Given the description of an element on the screen output the (x, y) to click on. 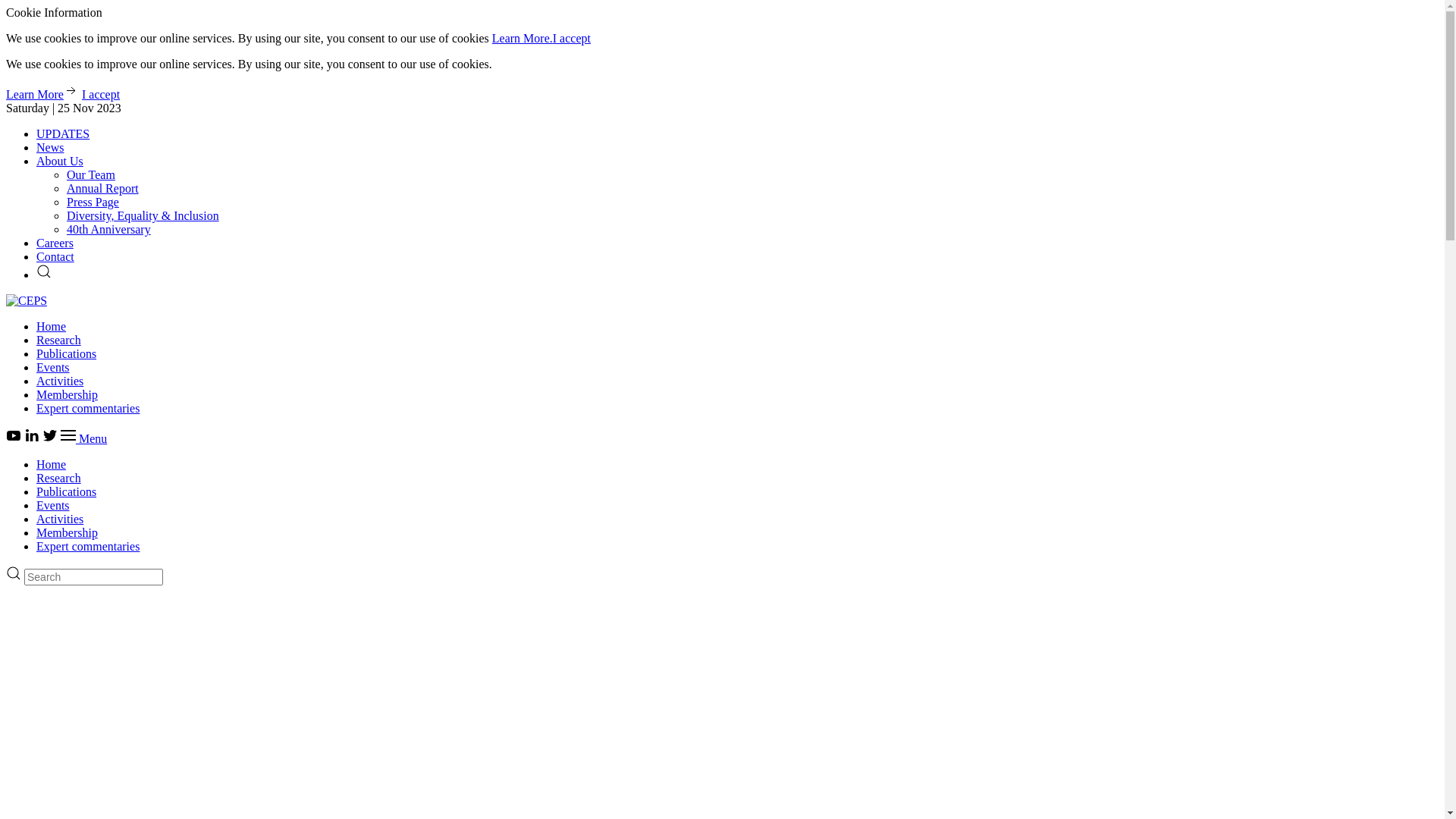
Press Page Element type: text (92, 201)
Home Element type: text (50, 464)
Expert commentaries Element type: text (87, 407)
Research Element type: text (58, 339)
Learn More. Element type: text (522, 37)
I accept Element type: text (571, 37)
Activities Element type: text (59, 518)
Events Element type: text (52, 366)
Research Element type: text (58, 477)
Menu Element type: text (83, 438)
Activities Element type: text (59, 380)
Careers Element type: text (54, 242)
Membership Element type: text (66, 394)
Publications Element type: text (66, 353)
Home Element type: text (50, 326)
Contact Element type: text (55, 256)
I accept Element type: text (100, 93)
Learn More Element type: text (42, 93)
Publications Element type: text (66, 491)
Our Team Element type: text (90, 174)
UPDATES Element type: text (62, 133)
40th Anniversary Element type: text (108, 228)
About Us Element type: text (59, 160)
Expert commentaries Element type: text (87, 545)
Annual Report Element type: text (102, 188)
Membership Element type: text (66, 532)
Events Element type: text (52, 504)
Diversity, Equality & Inclusion Element type: text (142, 215)
News Element type: text (49, 147)
